Given the description of an element on the screen output the (x, y) to click on. 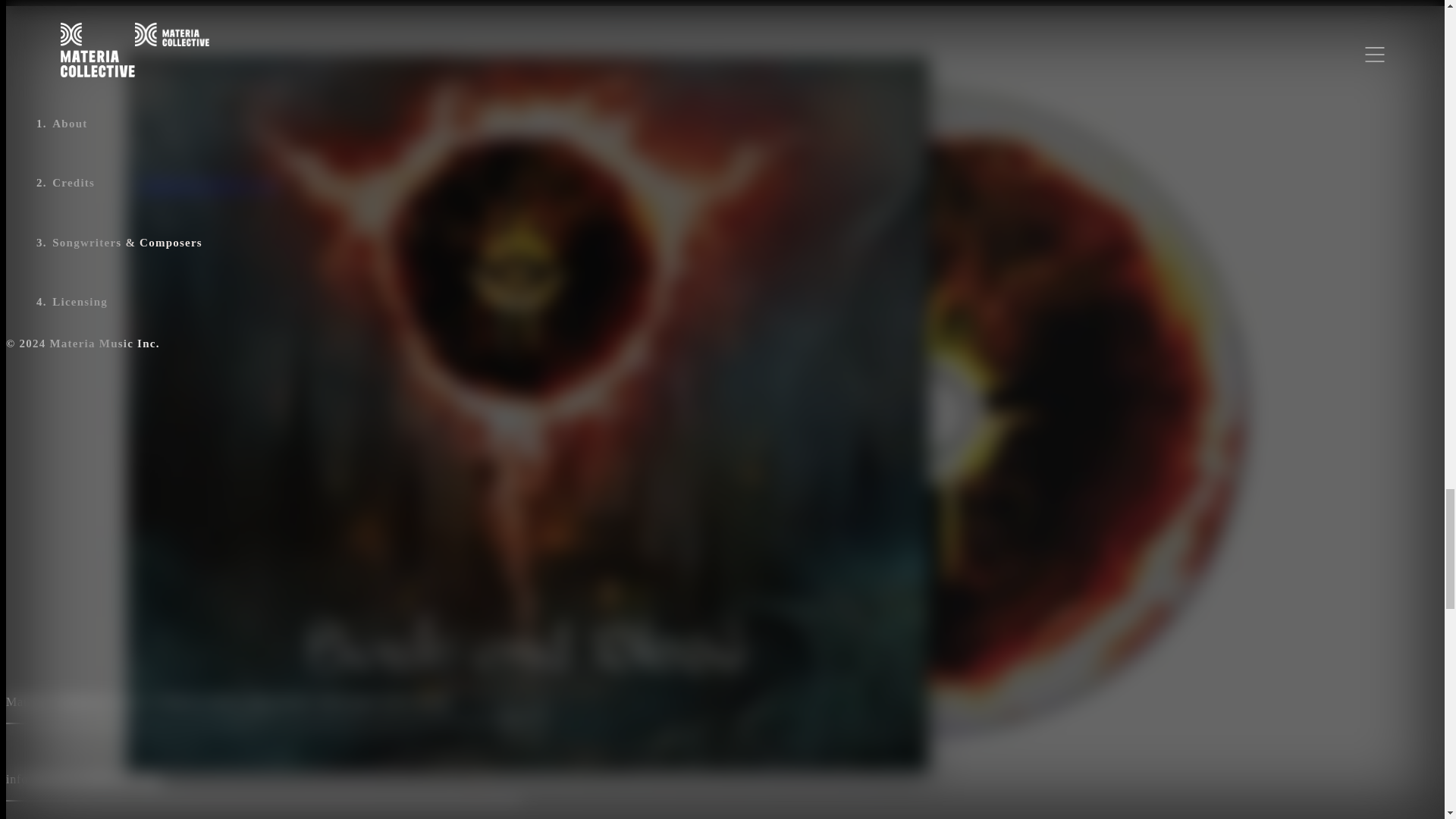
Materia Music (203, 701)
Video game music record label, music publisher (203, 701)
